Given the description of an element on the screen output the (x, y) to click on. 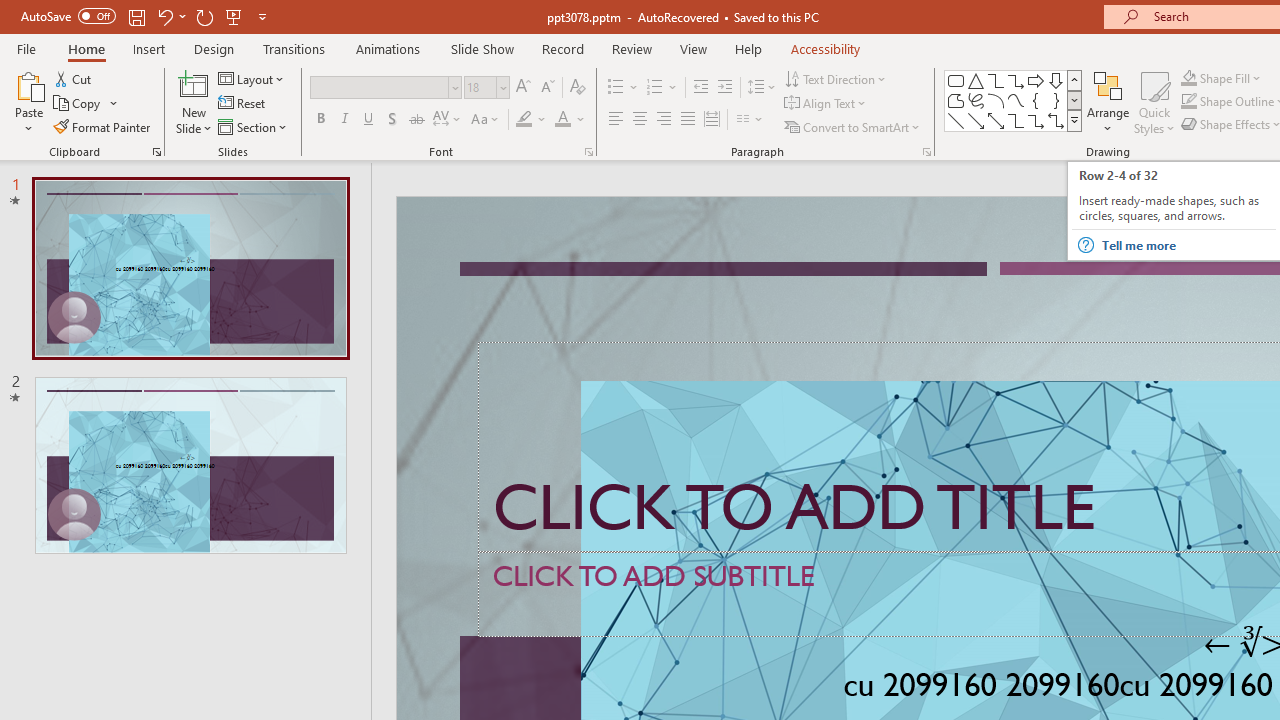
Center (639, 119)
Character Spacing (447, 119)
Convert to SmartArt (853, 126)
Text Direction (836, 78)
Arrow: Down (1055, 80)
